Given the description of an element on the screen output the (x, y) to click on. 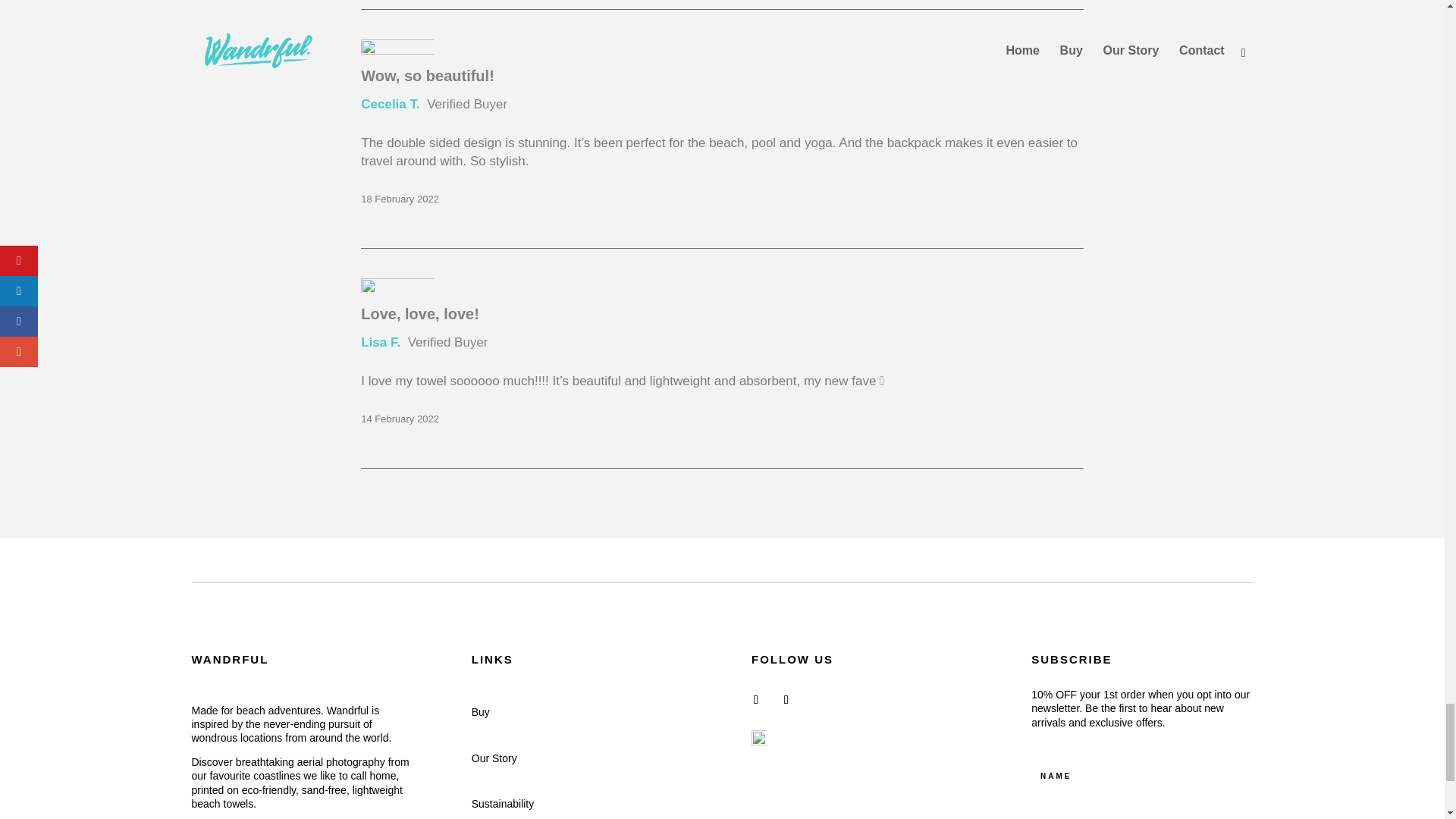
Buy (480, 711)
Sustainability (502, 803)
WANDRFUL (228, 658)
Our Story (493, 758)
